Given the description of an element on the screen output the (x, y) to click on. 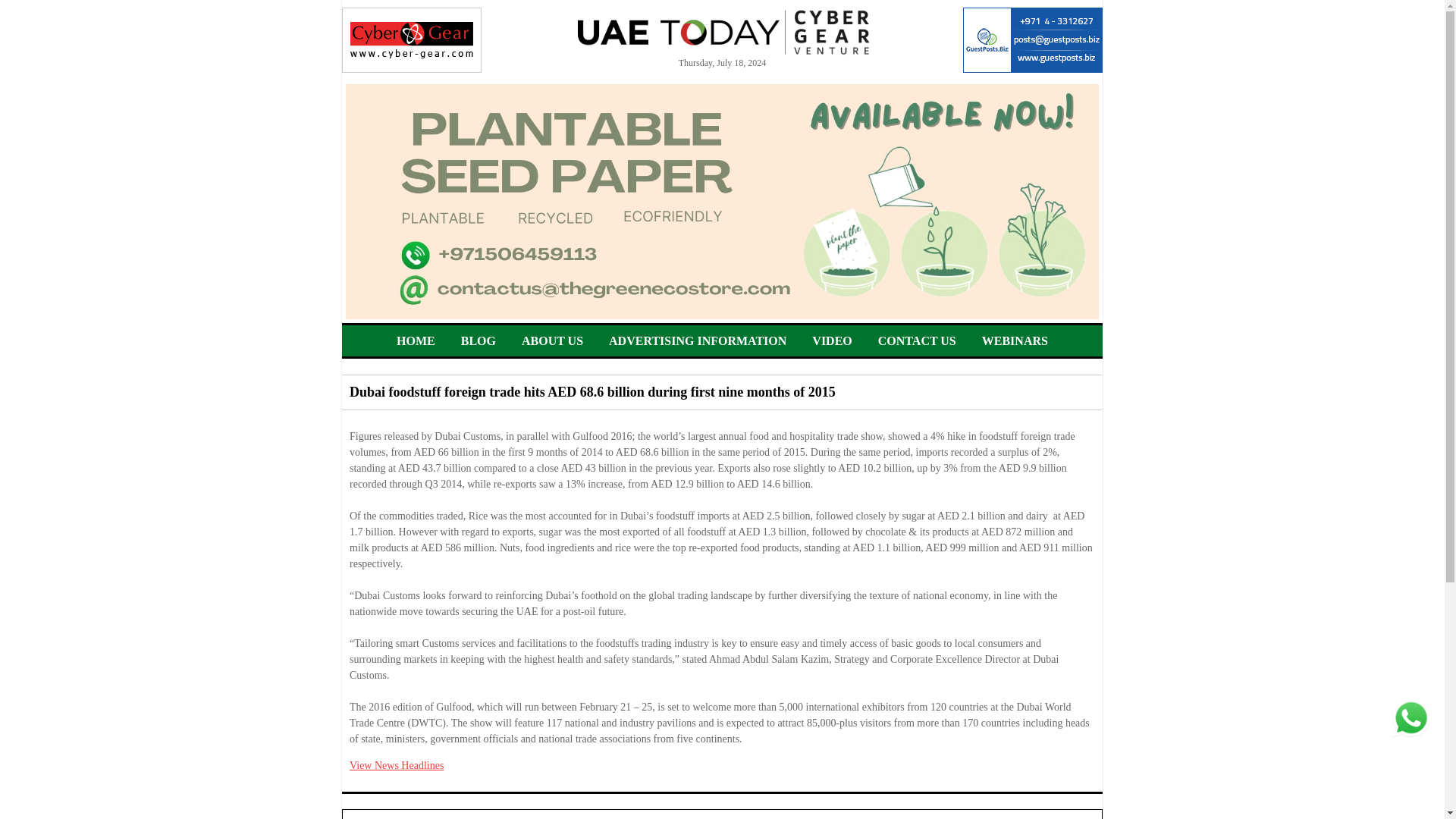
Cyber Gear (411, 39)
ADVERTISING INFORMATION (697, 340)
VIDEO (831, 340)
View News Headlines (396, 765)
UAE Today (722, 32)
WEBINARS (1014, 340)
CONTACT US (916, 340)
BLOG (478, 340)
Guest Posts (1032, 39)
HOME (415, 340)
ABOUT US (552, 340)
ONLY webinars (1014, 340)
